Given the description of an element on the screen output the (x, y) to click on. 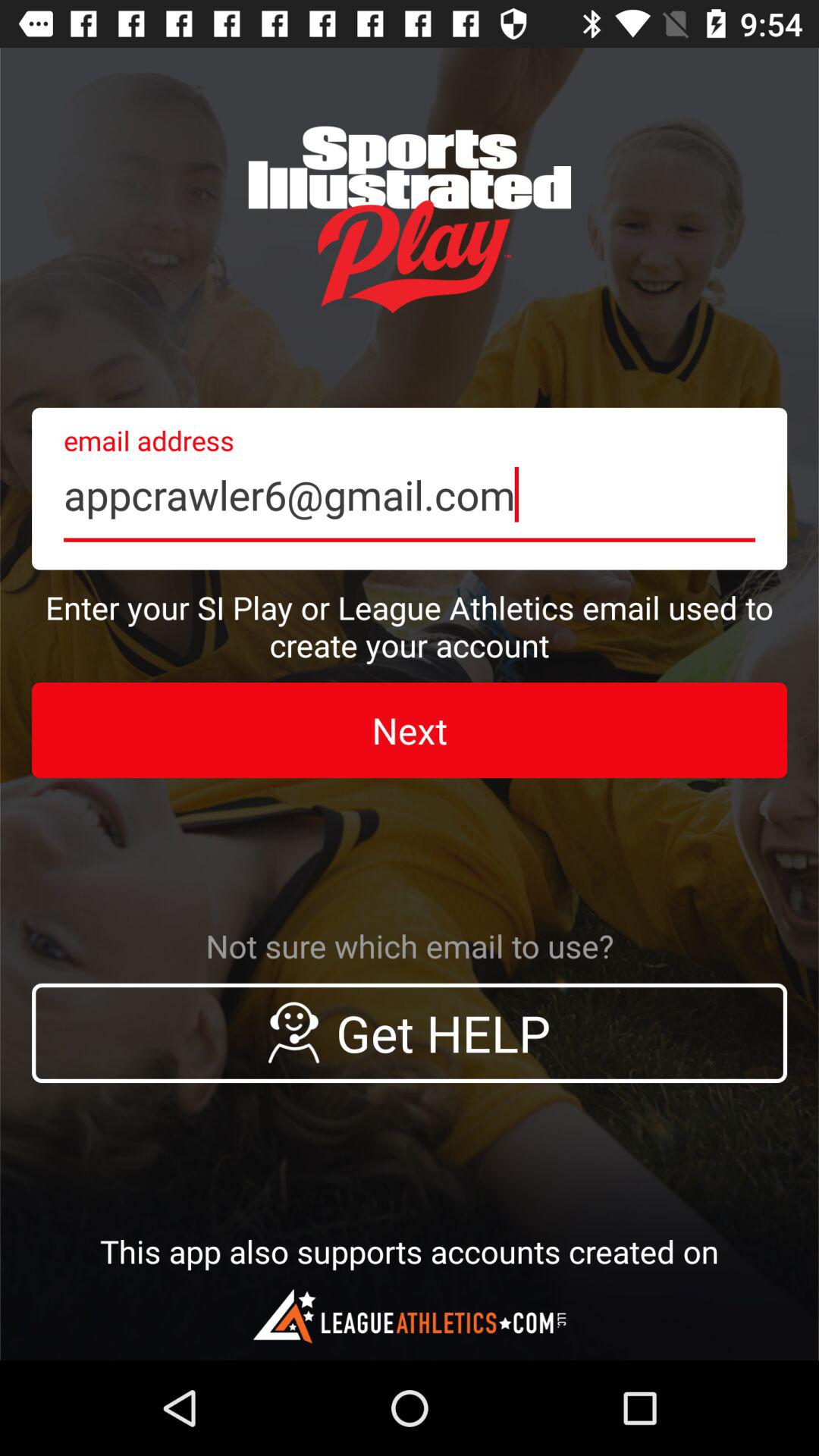
jump to appcrawler6@gmail.com (409, 488)
